Given the description of an element on the screen output the (x, y) to click on. 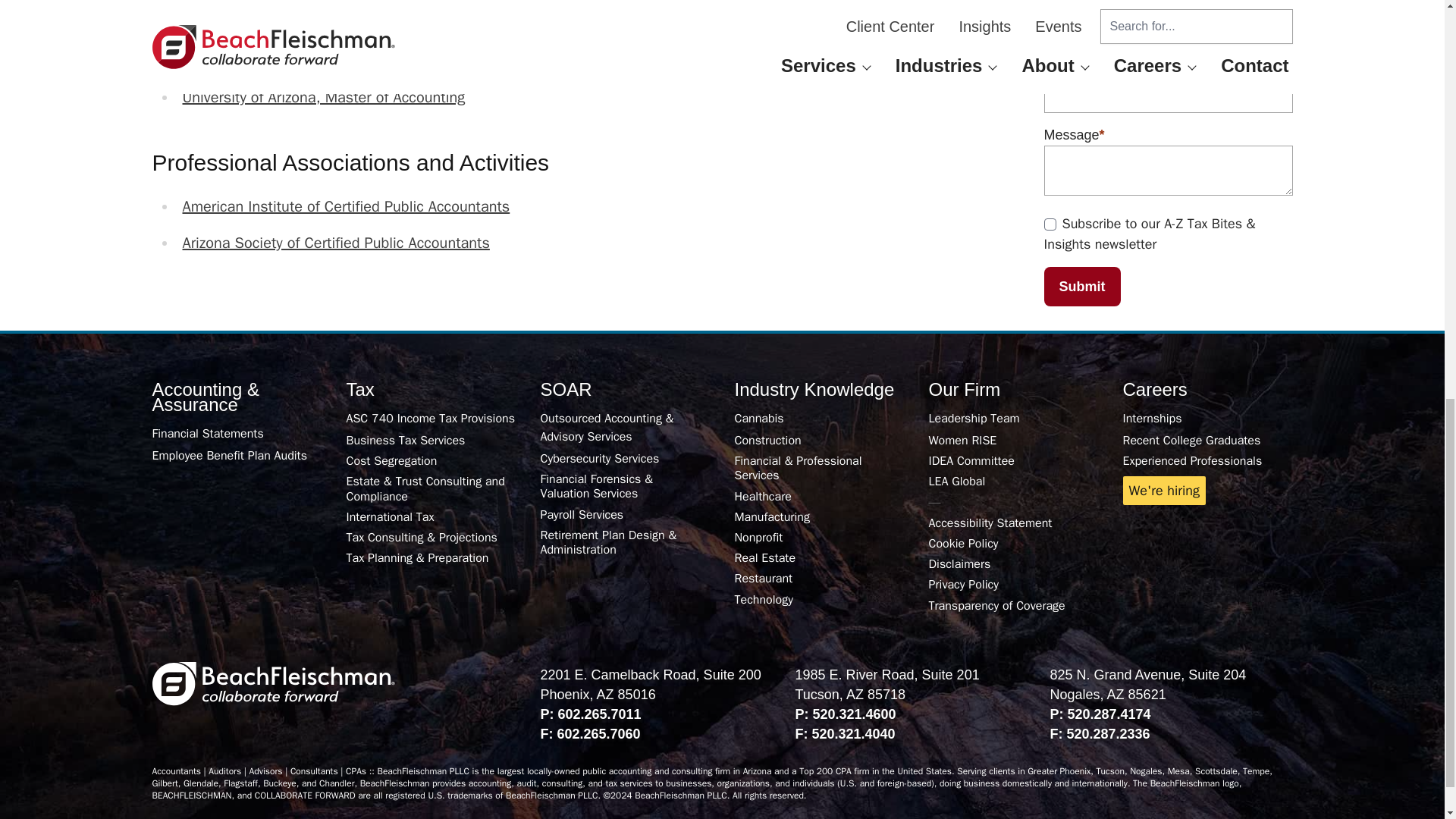
true (1049, 224)
Submit (1081, 286)
